Given the description of an element on the screen output the (x, y) to click on. 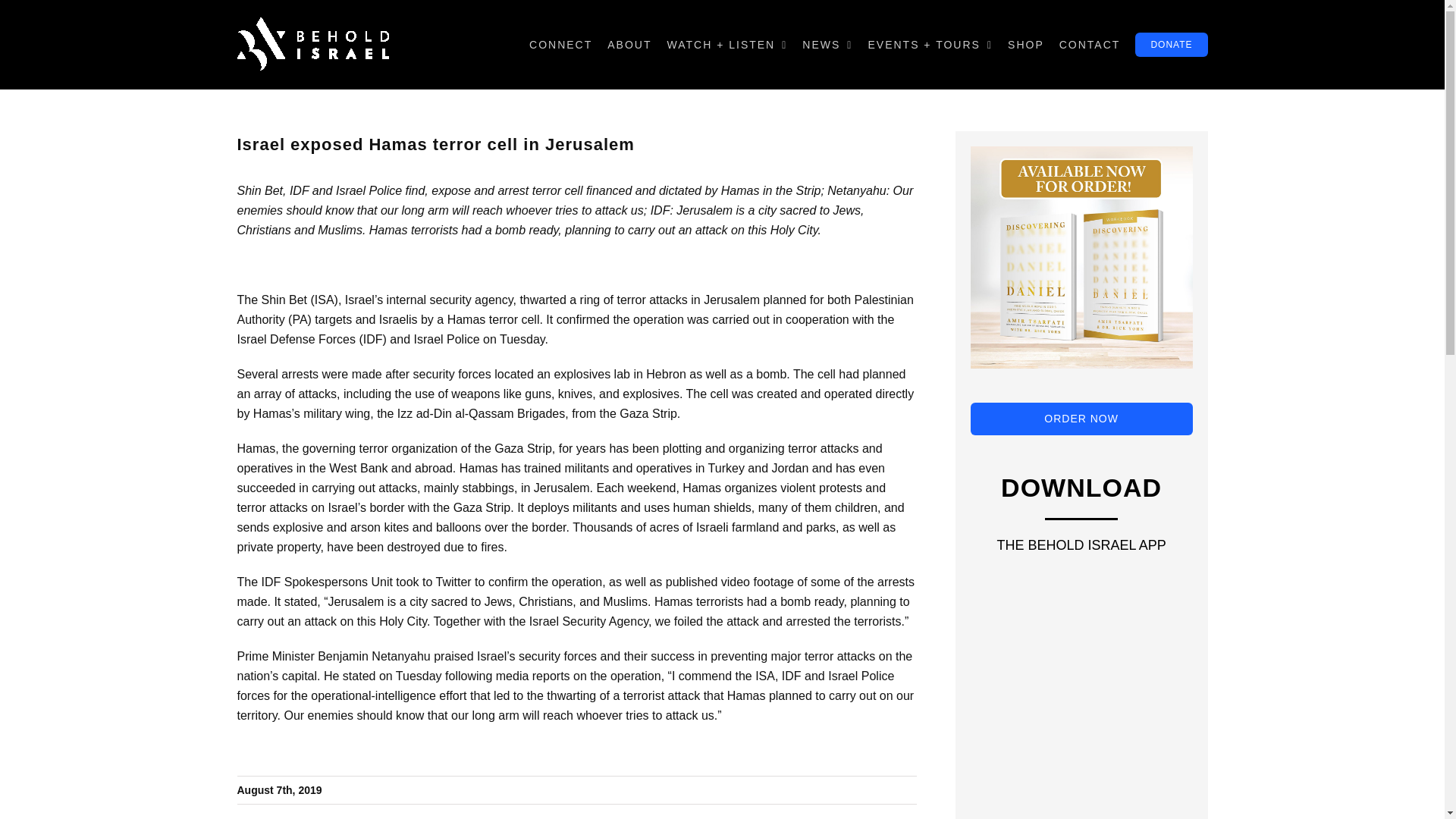
app-phone-mock-2019 (1080, 760)
